Given the description of an element on the screen output the (x, y) to click on. 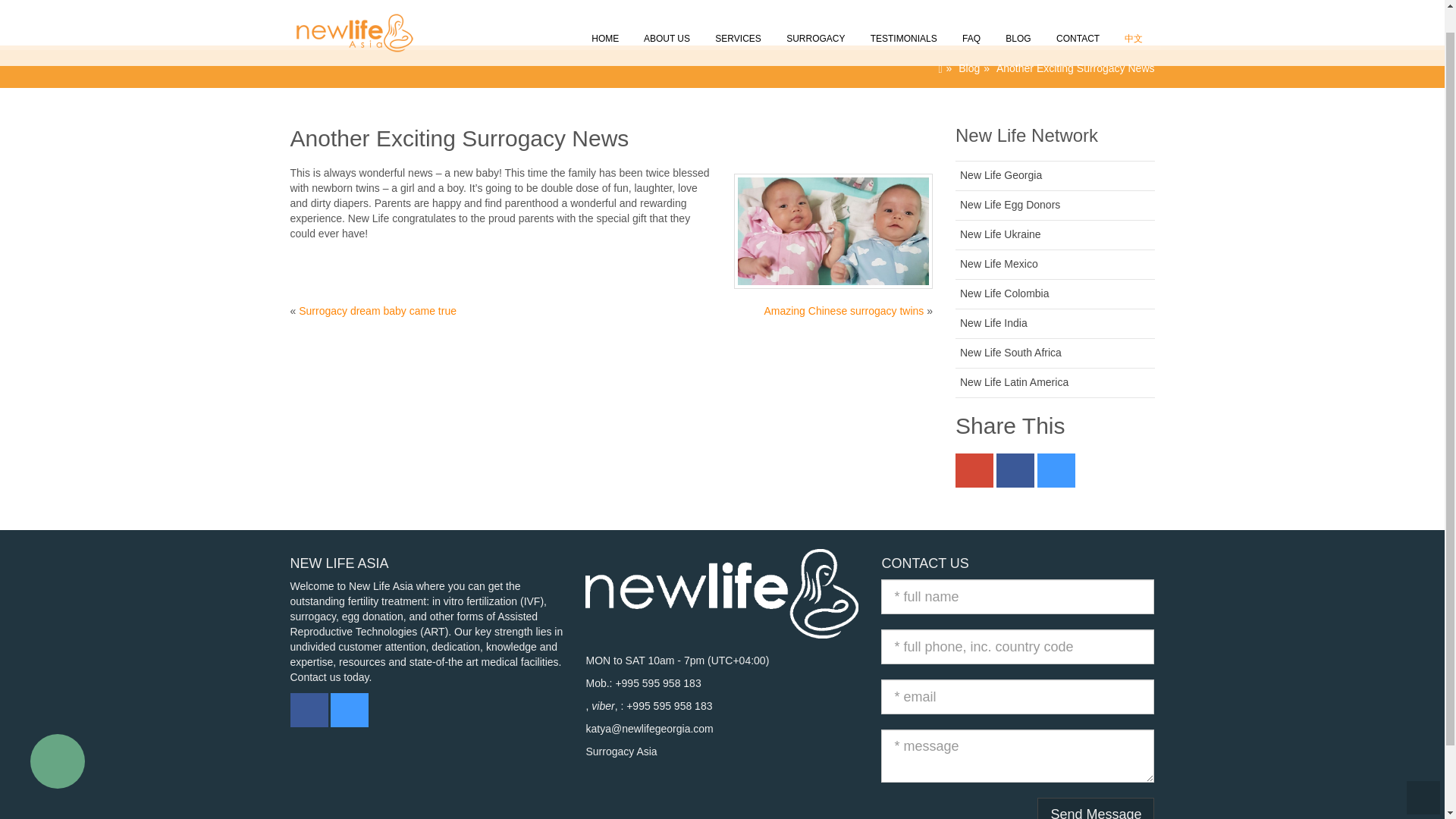
New Life South Africa (1010, 352)
 SERVICES (737, 20)
New Life Mexico (998, 263)
New Life Latin America (1013, 381)
New Life India (993, 322)
Surrogacy Asia EN (346, 6)
Select Language (1132, 20)
Home (604, 20)
New Life Ukraine (1000, 234)
New Life Egg Donors (1009, 204)
New Life Colombia (1004, 293)
New Life Georgia (1000, 174)
About Us (665, 20)
Surrogacy dream baby came true (377, 310)
 FAQ (970, 20)
